Given the description of an element on the screen output the (x, y) to click on. 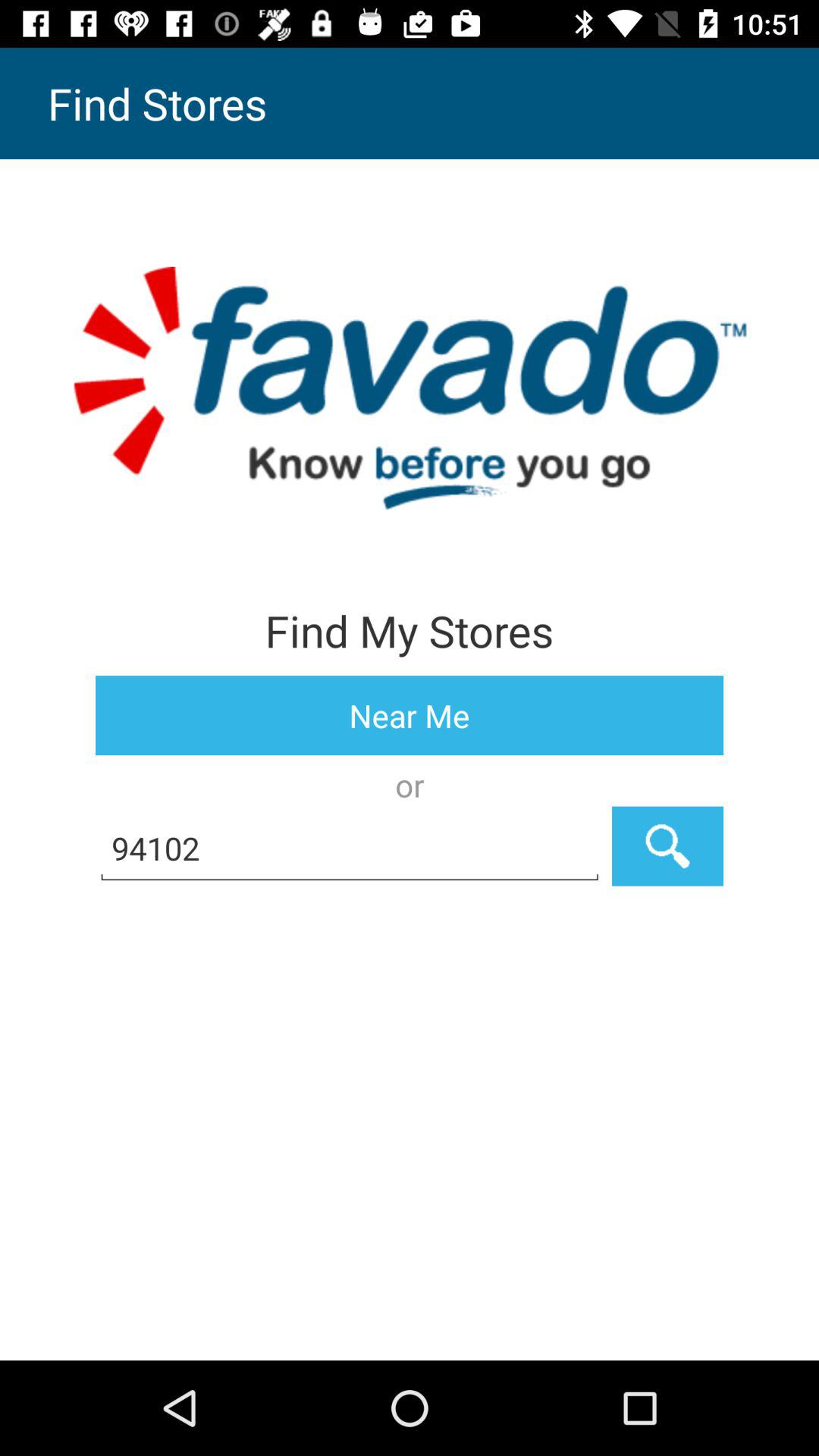
press the item below or icon (349, 846)
